Given the description of an element on the screen output the (x, y) to click on. 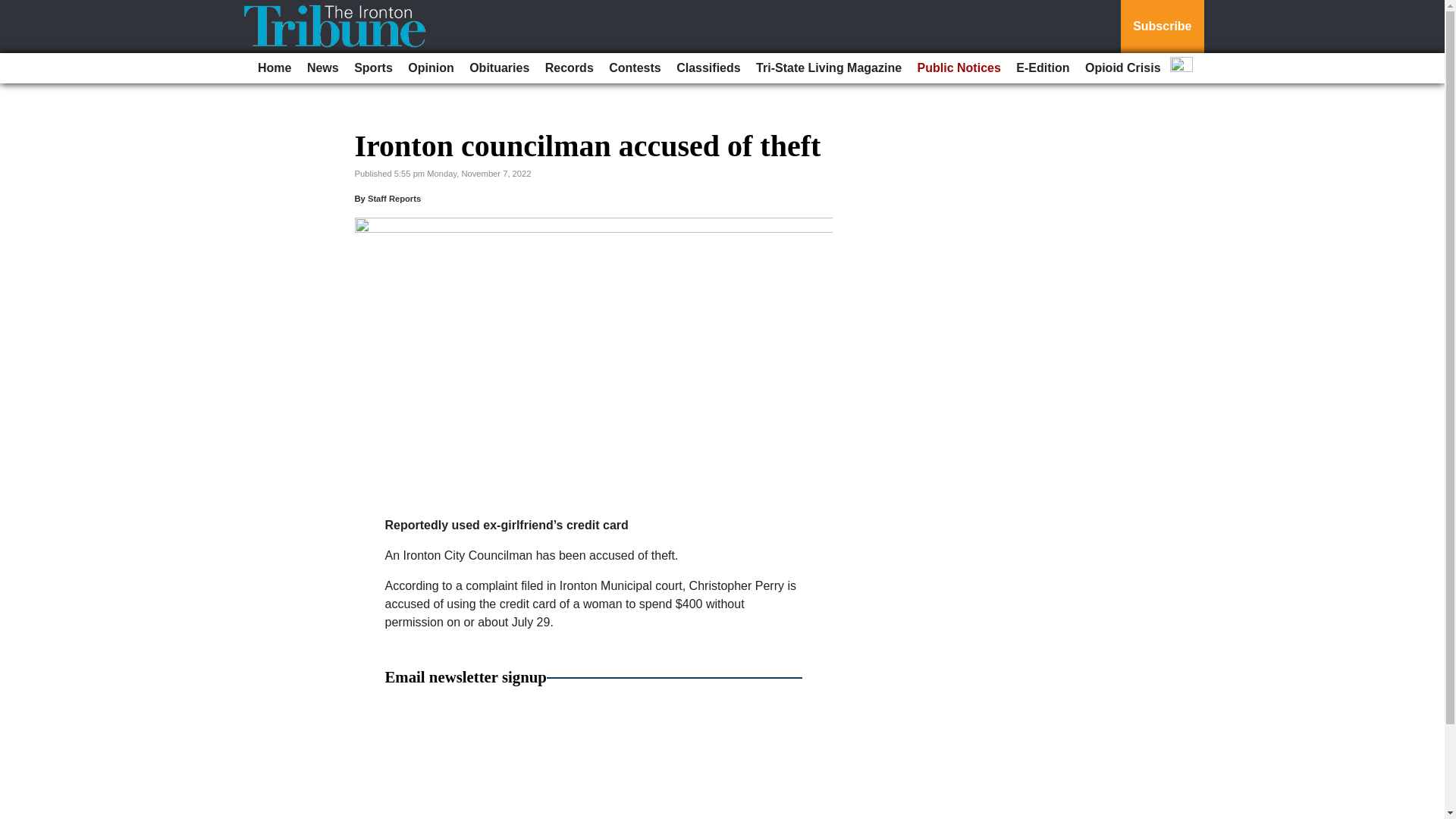
Obituaries (499, 68)
Opioid Crisis (1122, 68)
E-Edition (1042, 68)
Public Notices (959, 68)
Subscribe (1162, 26)
Tri-State Living Magazine (828, 68)
Go (13, 9)
Opinion (430, 68)
Records (568, 68)
News (323, 68)
